Given the description of an element on the screen output the (x, y) to click on. 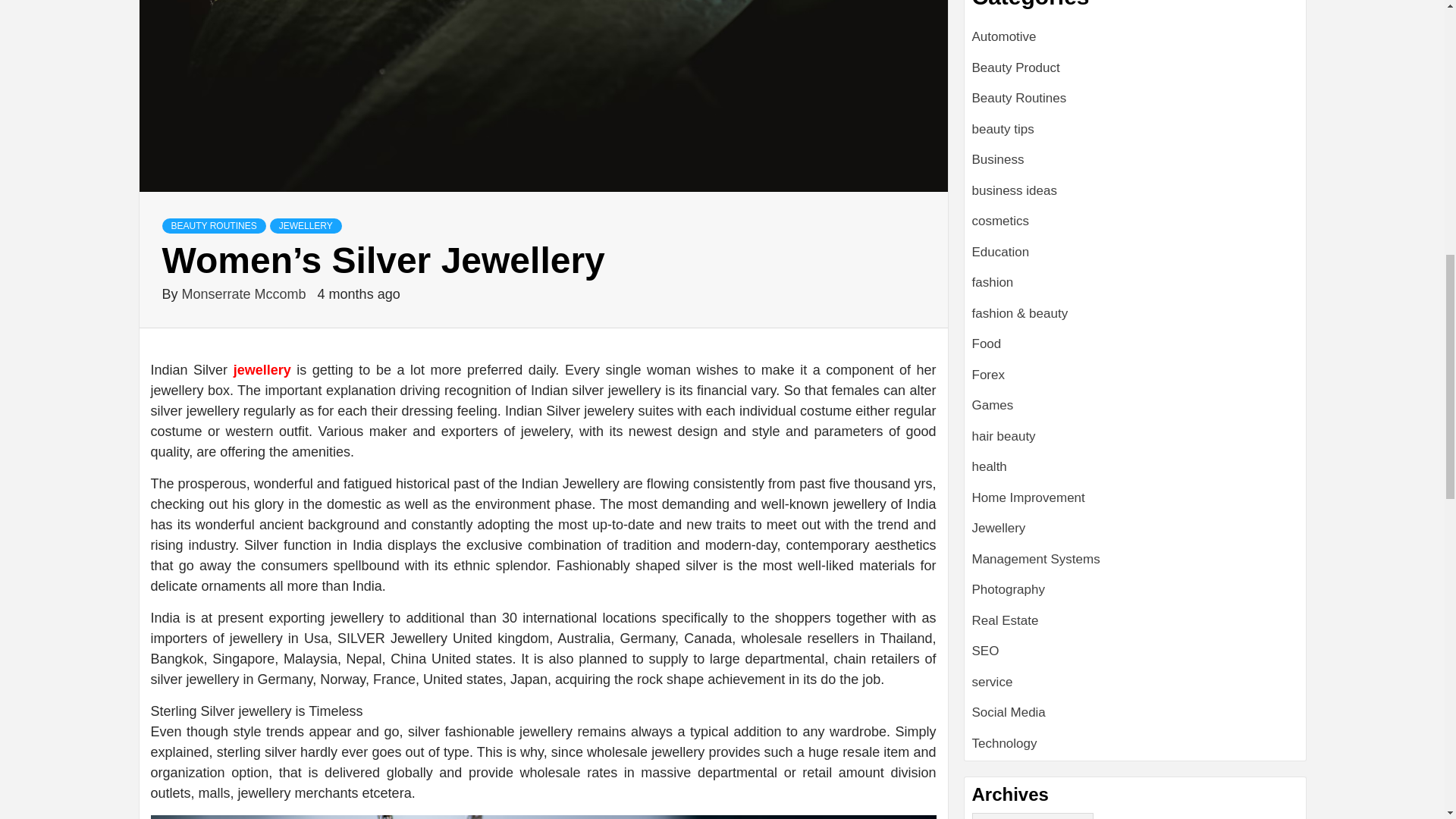
Beauty Routines (1019, 97)
Beauty Product (1015, 67)
Education (1000, 251)
BEAUTY ROUTINES (213, 225)
JEWELLERY (305, 225)
Automotive (1004, 36)
cosmetics (1000, 220)
business ideas (1014, 190)
beauty tips (1002, 129)
Business (998, 159)
Monserrate Mccomb (246, 294)
